Given the description of an element on the screen output the (x, y) to click on. 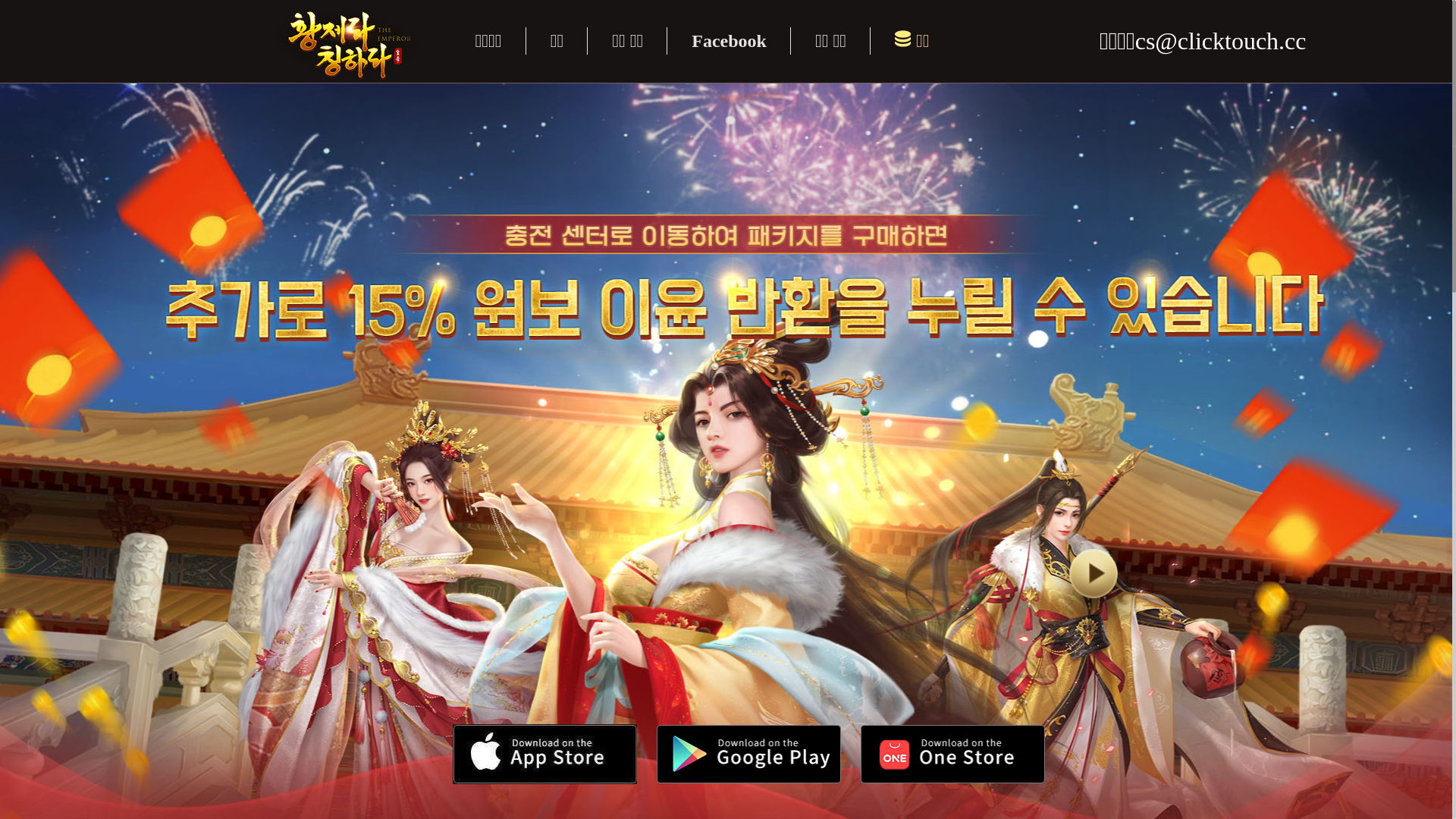
Facebook Element type: text (728, 41)
